Given the description of an element on the screen output the (x, y) to click on. 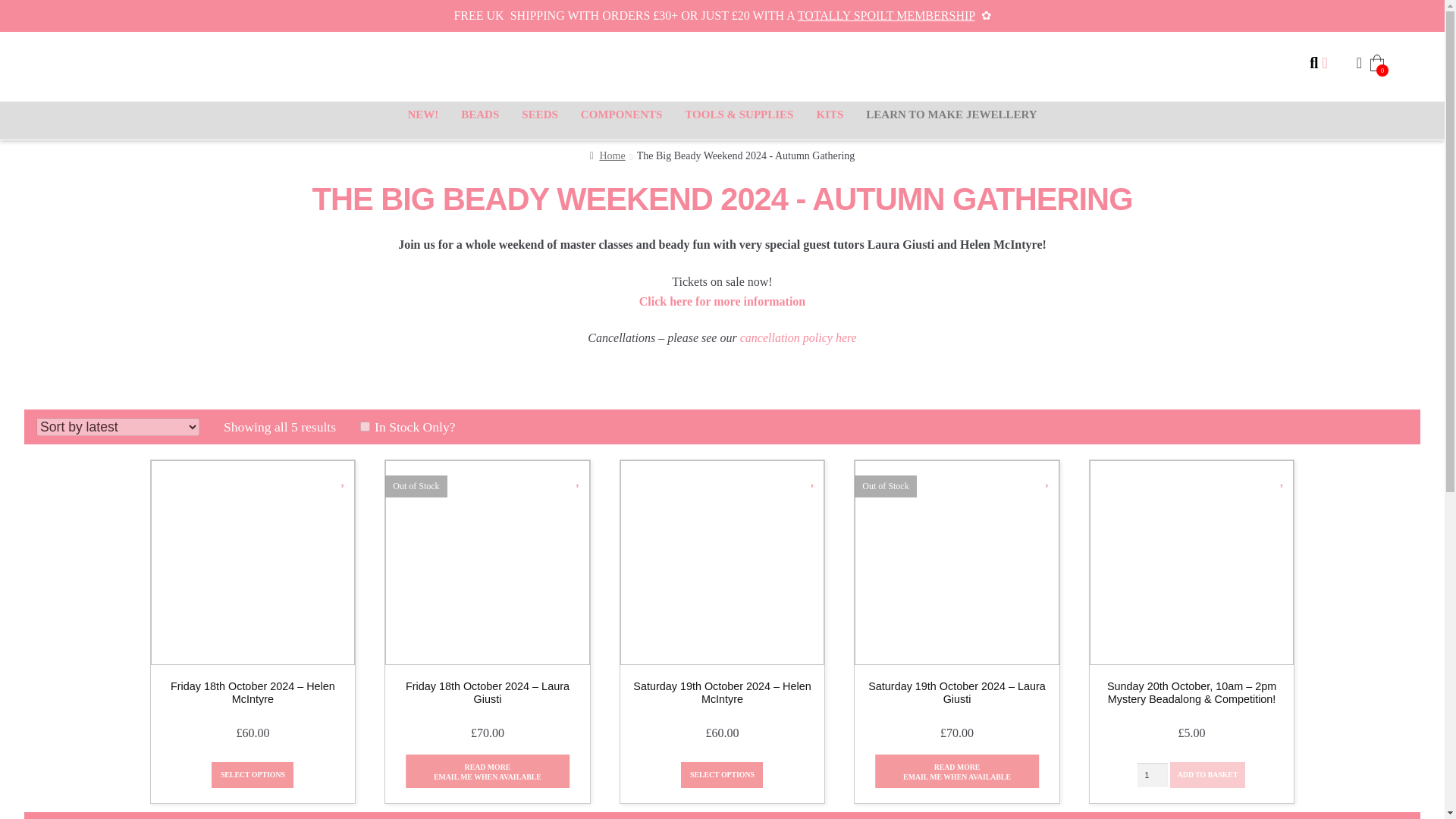
true (364, 426)
new (422, 114)
1 (1152, 774)
Spoilt Rotten Beads (721, 66)
NEW! (422, 114)
BEADS (480, 114)
TOTALLY SPOILT MEMBERSHIP (886, 15)
